Given the description of an element on the screen output the (x, y) to click on. 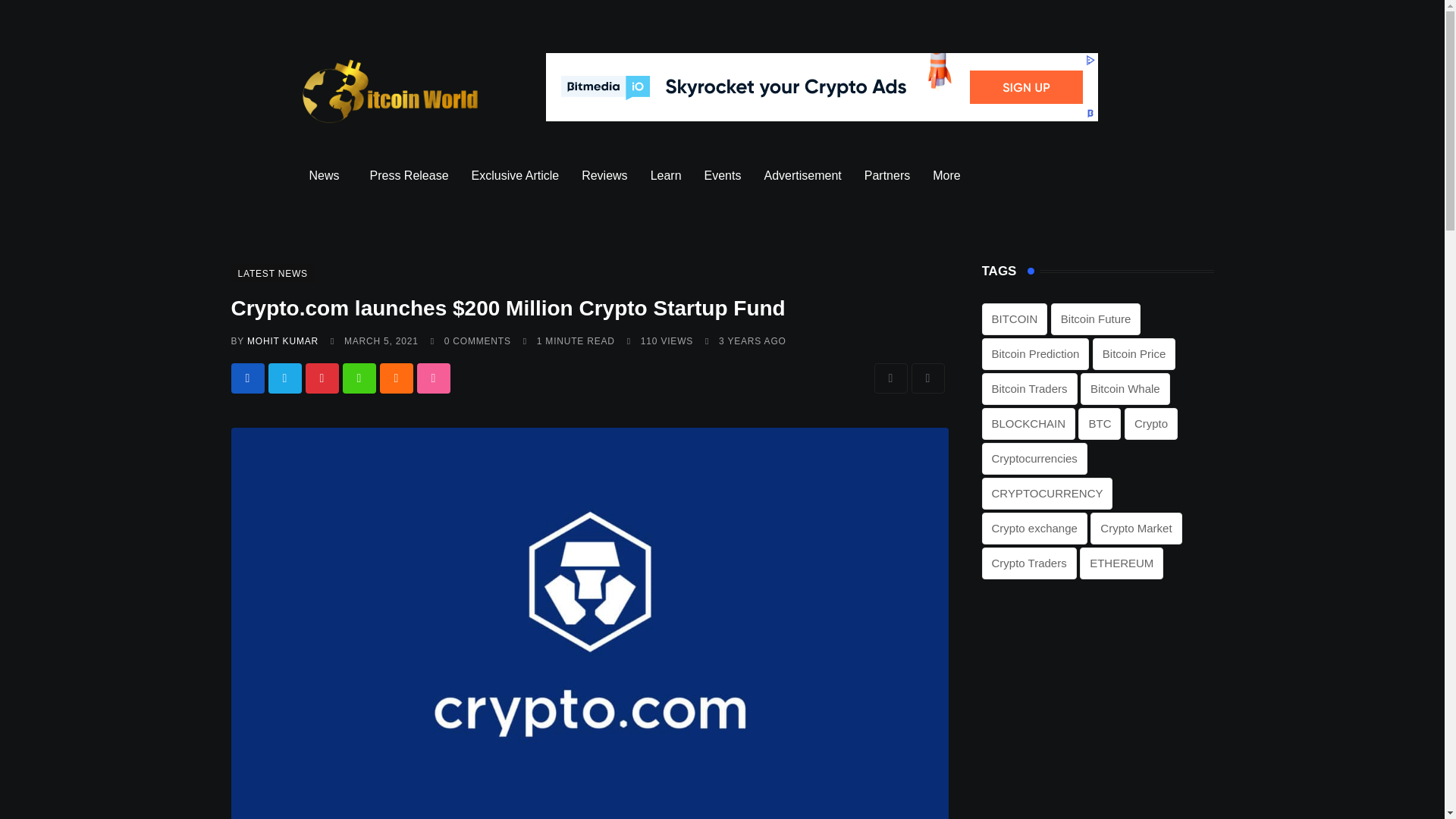
LATEST NEWS (272, 272)
Posts by Mohit Kumar (282, 340)
More (949, 175)
MOHIT KUMAR (282, 340)
Learn (666, 175)
Advertisement (801, 175)
News (327, 175)
Exclusive Article (515, 175)
Reviews (604, 175)
Partners (887, 175)
